Given the description of an element on the screen output the (x, y) to click on. 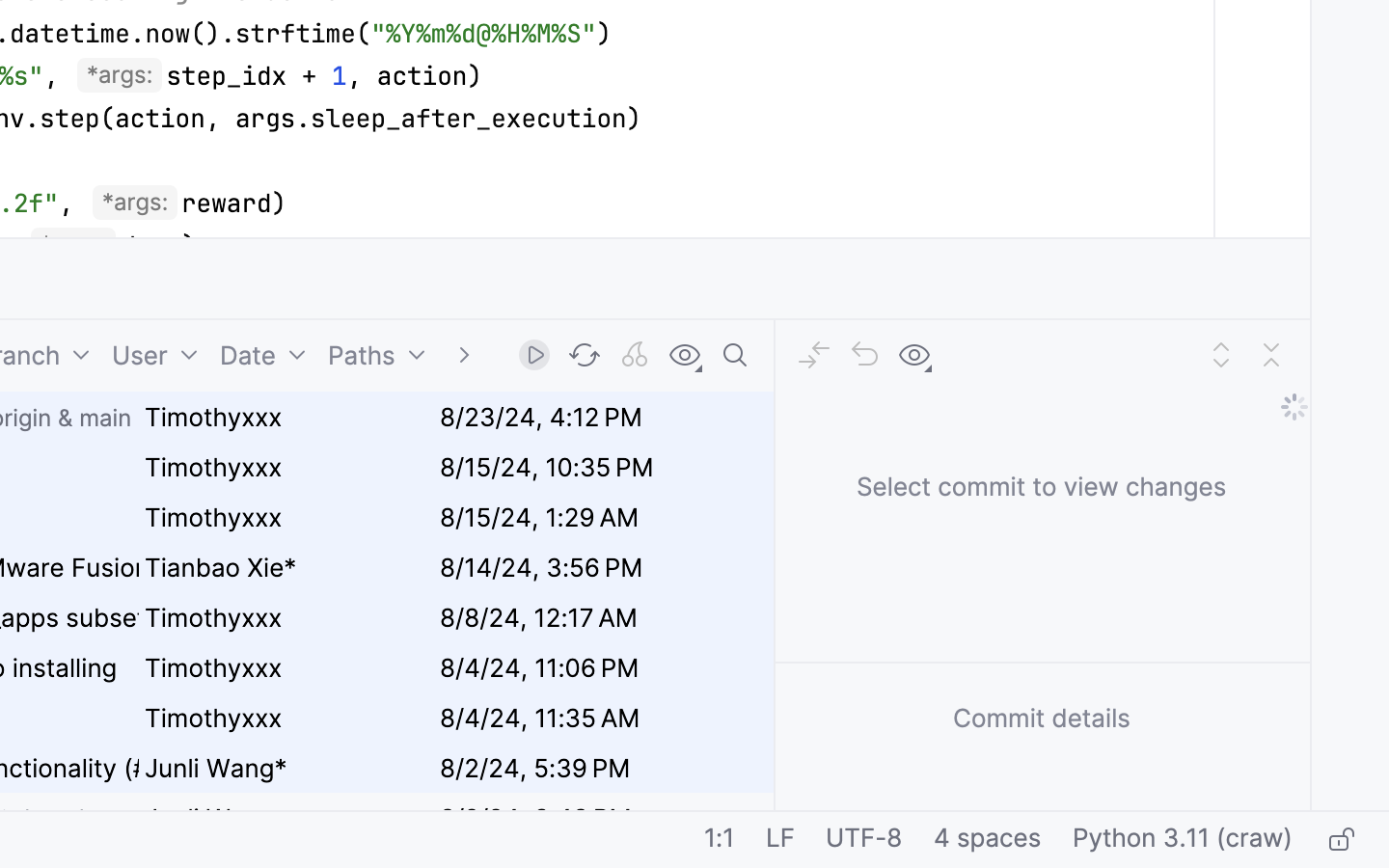
1:1 Element type: AXStaticText (719, 840)
Make file read-only Element type: AXStaticText (1338, 840)
4 spaces Element type: AXStaticText (987, 839)
UTF-8 Element type: AXStaticText (864, 840)
Python 3.11 (craw) Element type: AXStaticText (1182, 840)
